Given the description of an element on the screen output the (x, y) to click on. 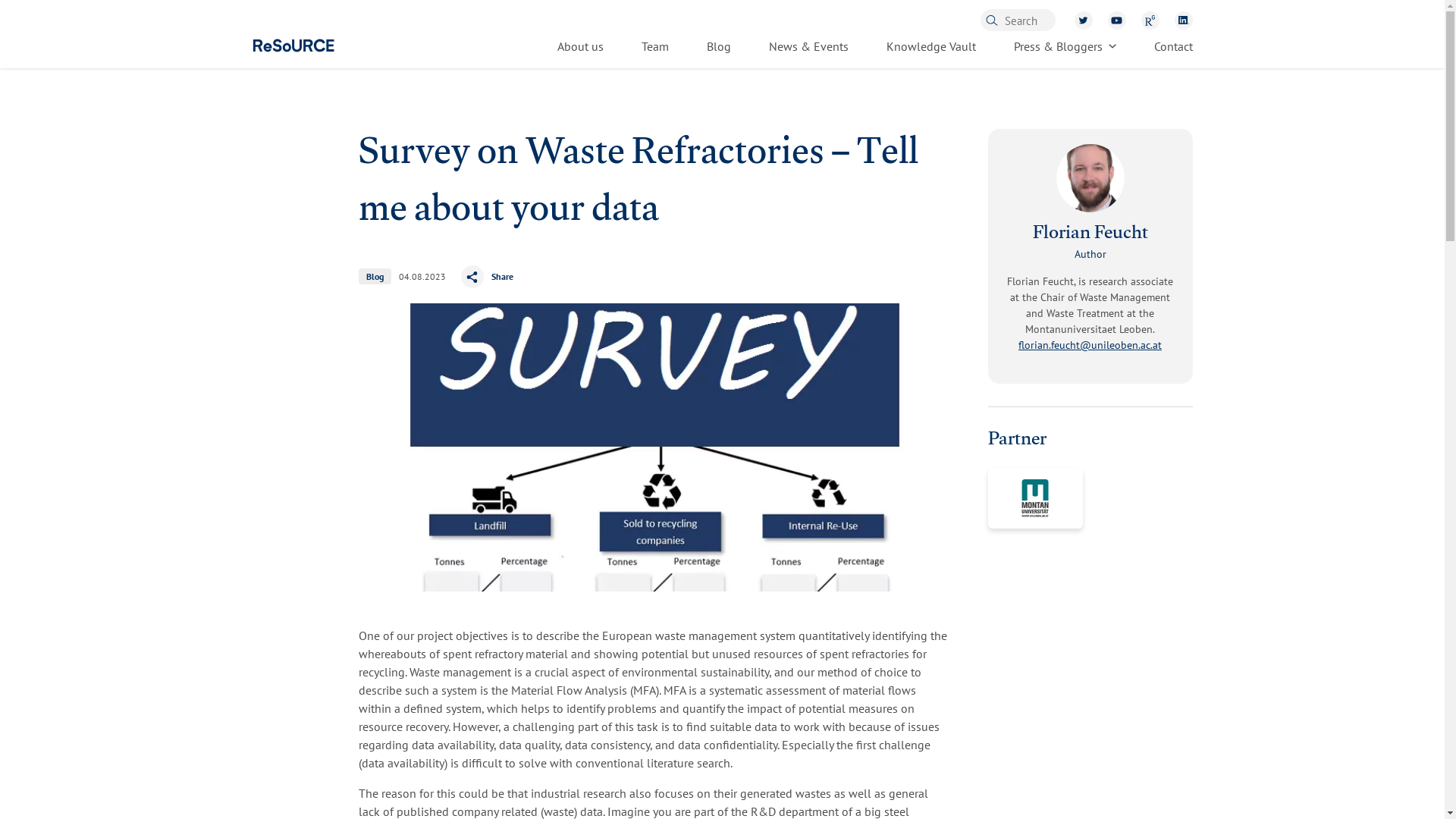
Blog (718, 47)
About us (579, 47)
Search (1070, 18)
Team (655, 47)
Contact (1173, 47)
Knowledge Vault (930, 47)
